Given the description of an element on the screen output the (x, y) to click on. 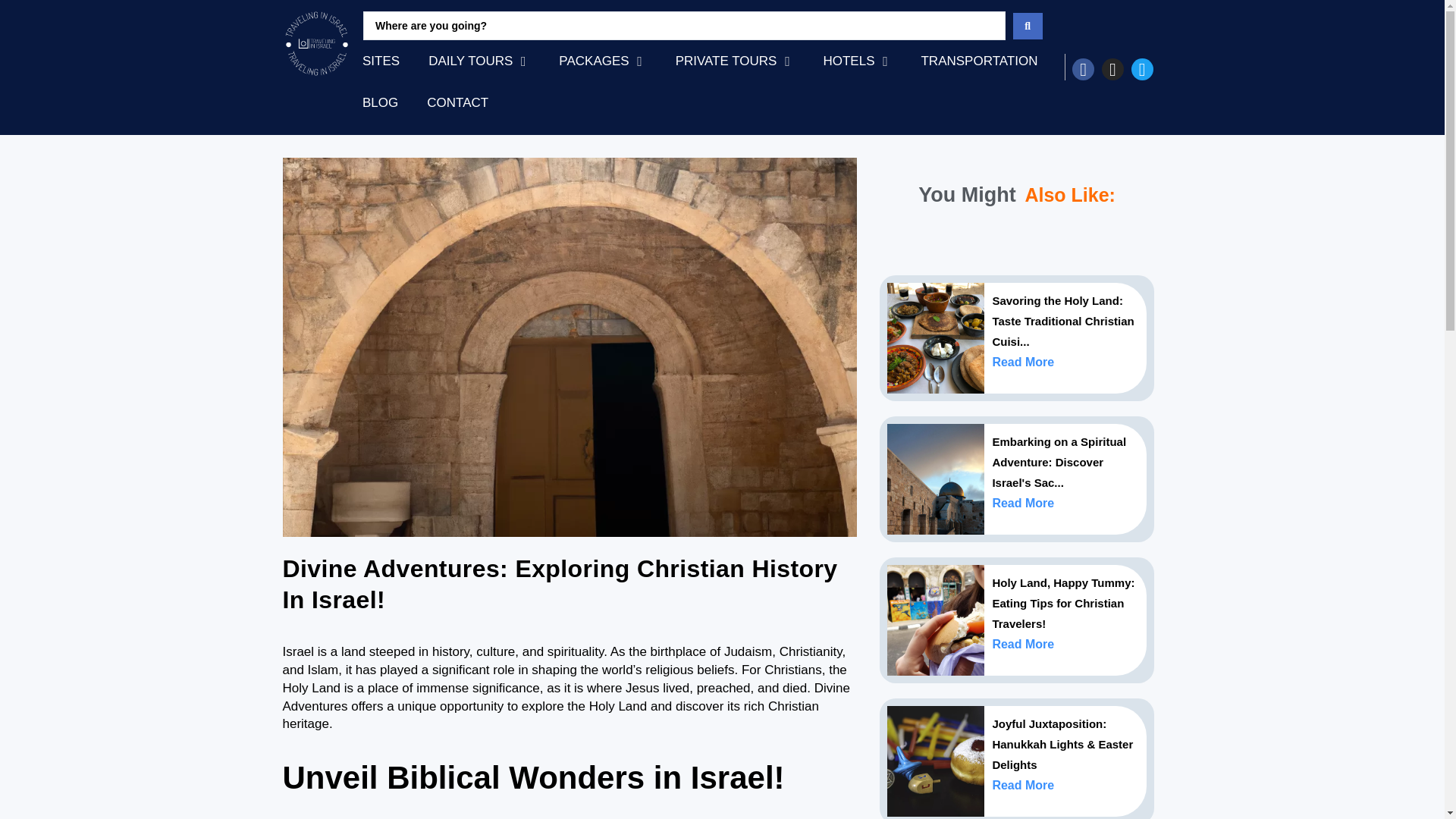
SITES (380, 60)
DAILY TOURS (470, 60)
PACKAGES (593, 60)
